Given the description of an element on the screen output the (x, y) to click on. 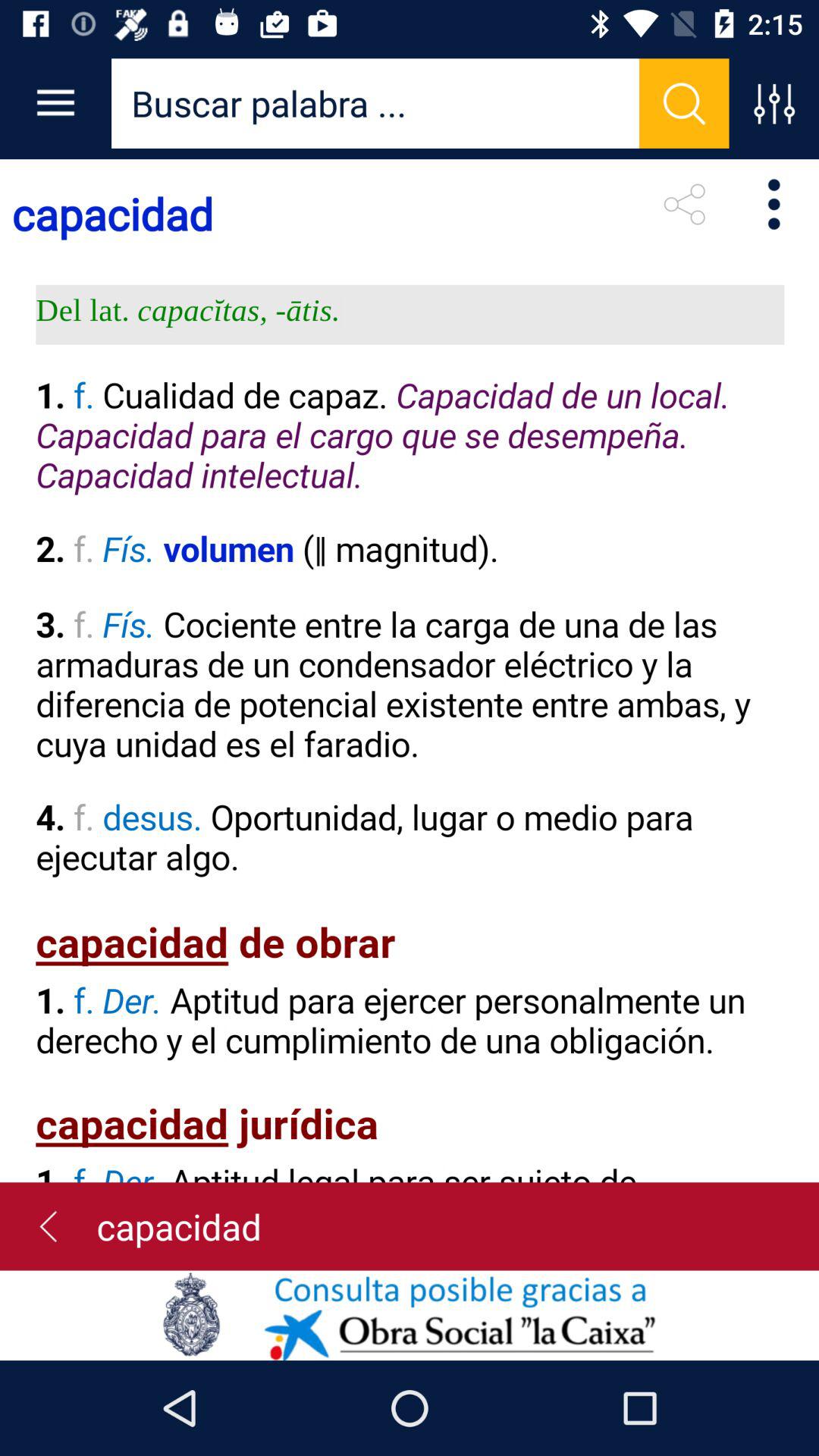
open menu options (774, 103)
